Given the description of an element on the screen output the (x, y) to click on. 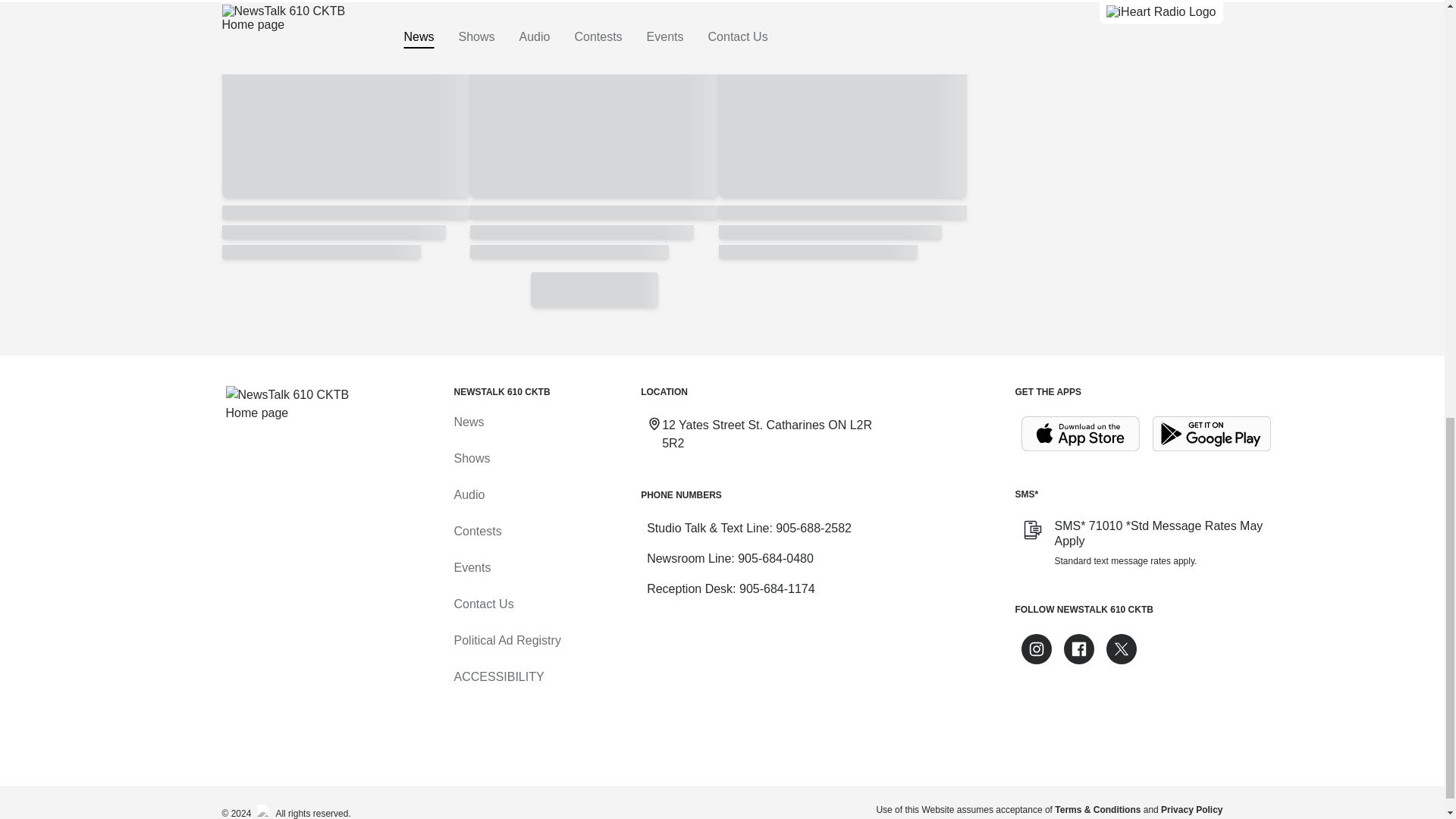
Contact Us (482, 603)
Political Ad Registry (506, 640)
ACCESSIBILITY (497, 676)
Get it on Google Play (1212, 434)
Events (471, 567)
News (467, 421)
Download on the App Store (1080, 434)
Shows (470, 458)
905-684-1174 (777, 588)
Accessibility (497, 676)
905-688-2582 (813, 527)
Audio (468, 494)
Privacy Policy (1191, 809)
905-684-0480 (775, 558)
Contests (476, 530)
